Given the description of an element on the screen output the (x, y) to click on. 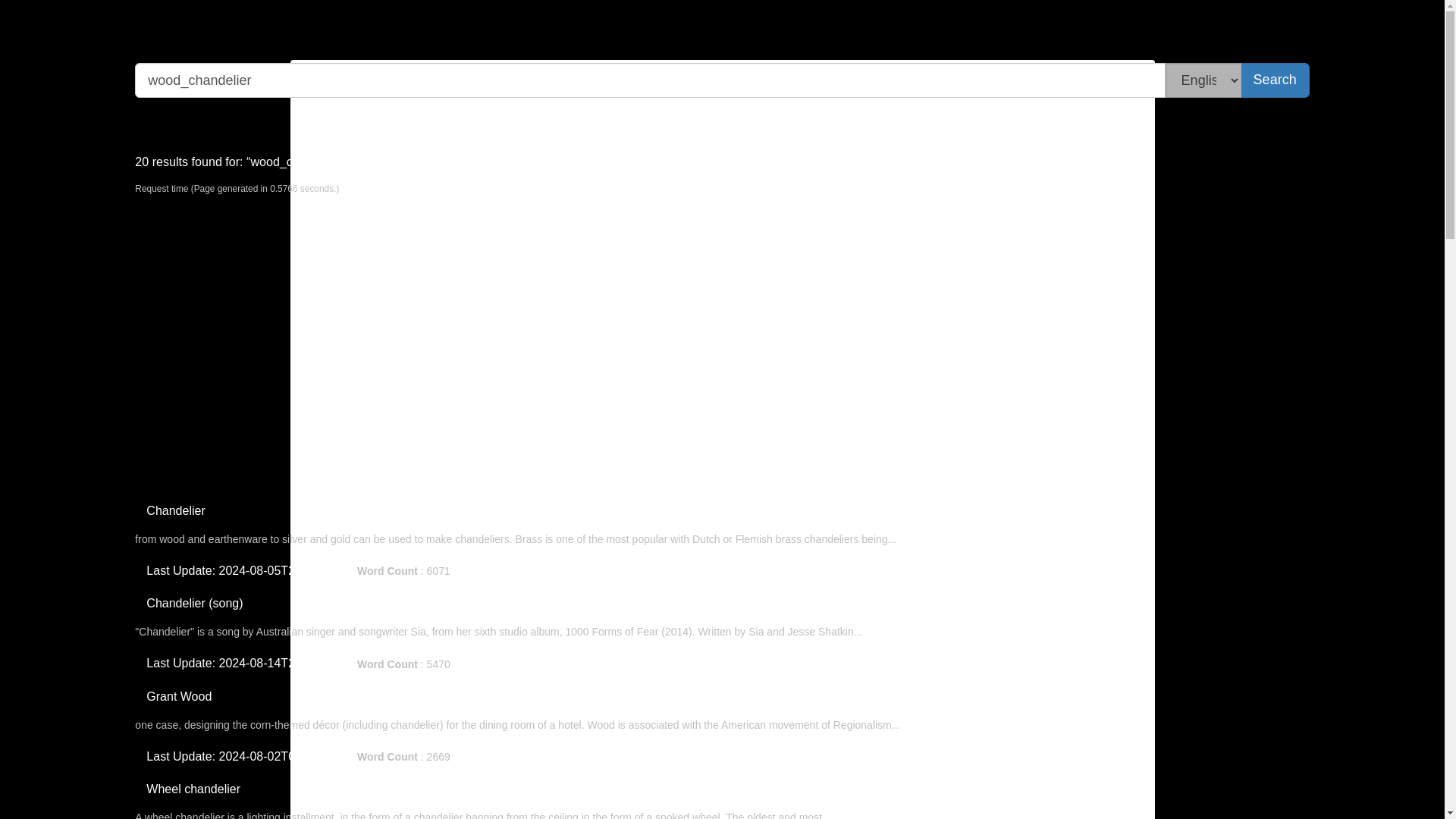
Last Update: 2024-08-05T23:17:13Z (244, 570)
Wheel chandelier (193, 788)
Synonim Chandelier (512, 571)
Chandelier (175, 510)
Grant Wood (178, 696)
Last Update: 2024-08-02T00:06:31Z (244, 755)
Last Update: 2024-08-14T23:53:26Z (244, 662)
Synonim Grant Wood (515, 757)
